Given the description of an element on the screen output the (x, y) to click on. 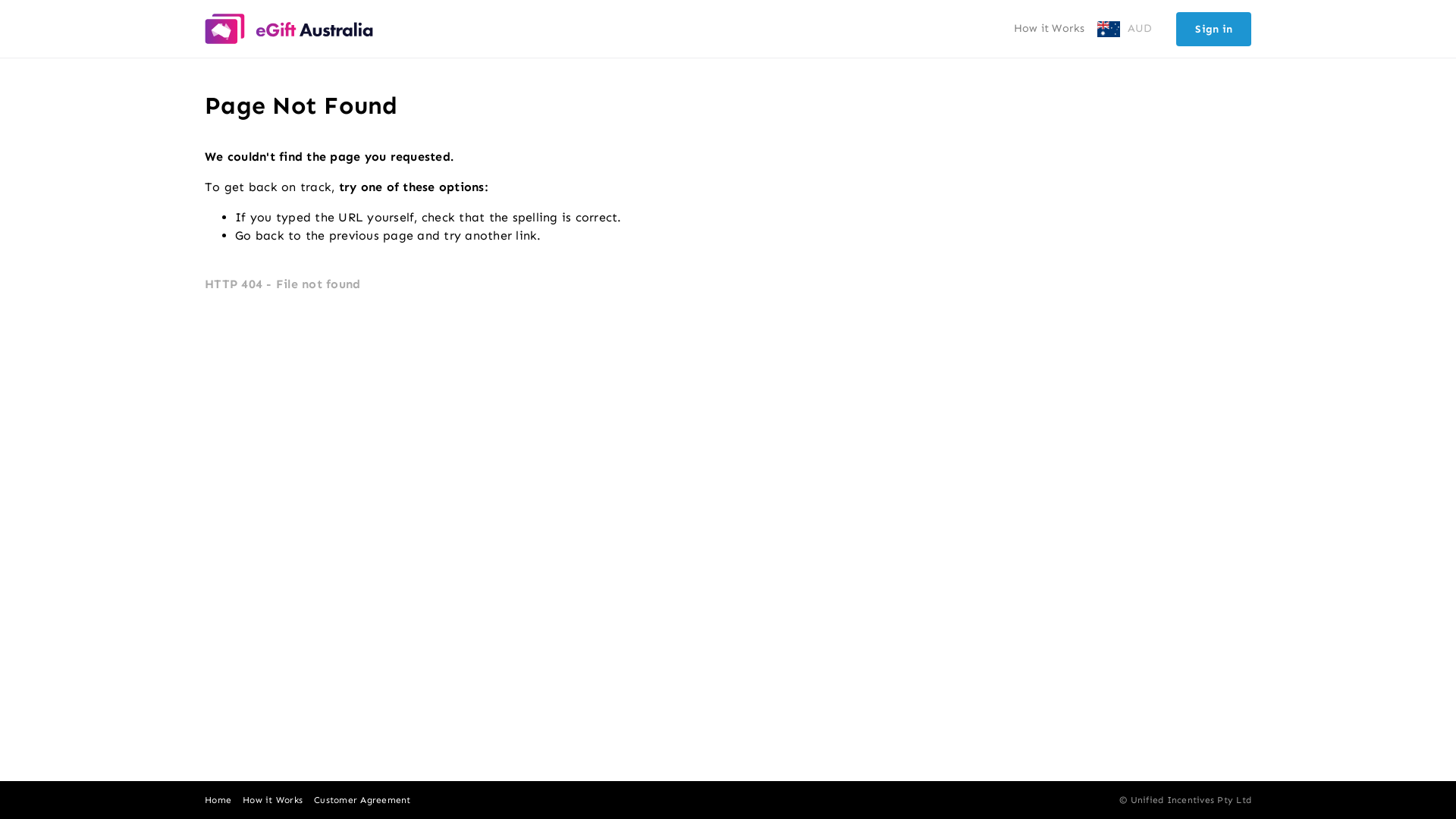
Sign in Element type: text (1213, 29)
How it Works Element type: text (1048, 28)
